Given the description of an element on the screen output the (x, y) to click on. 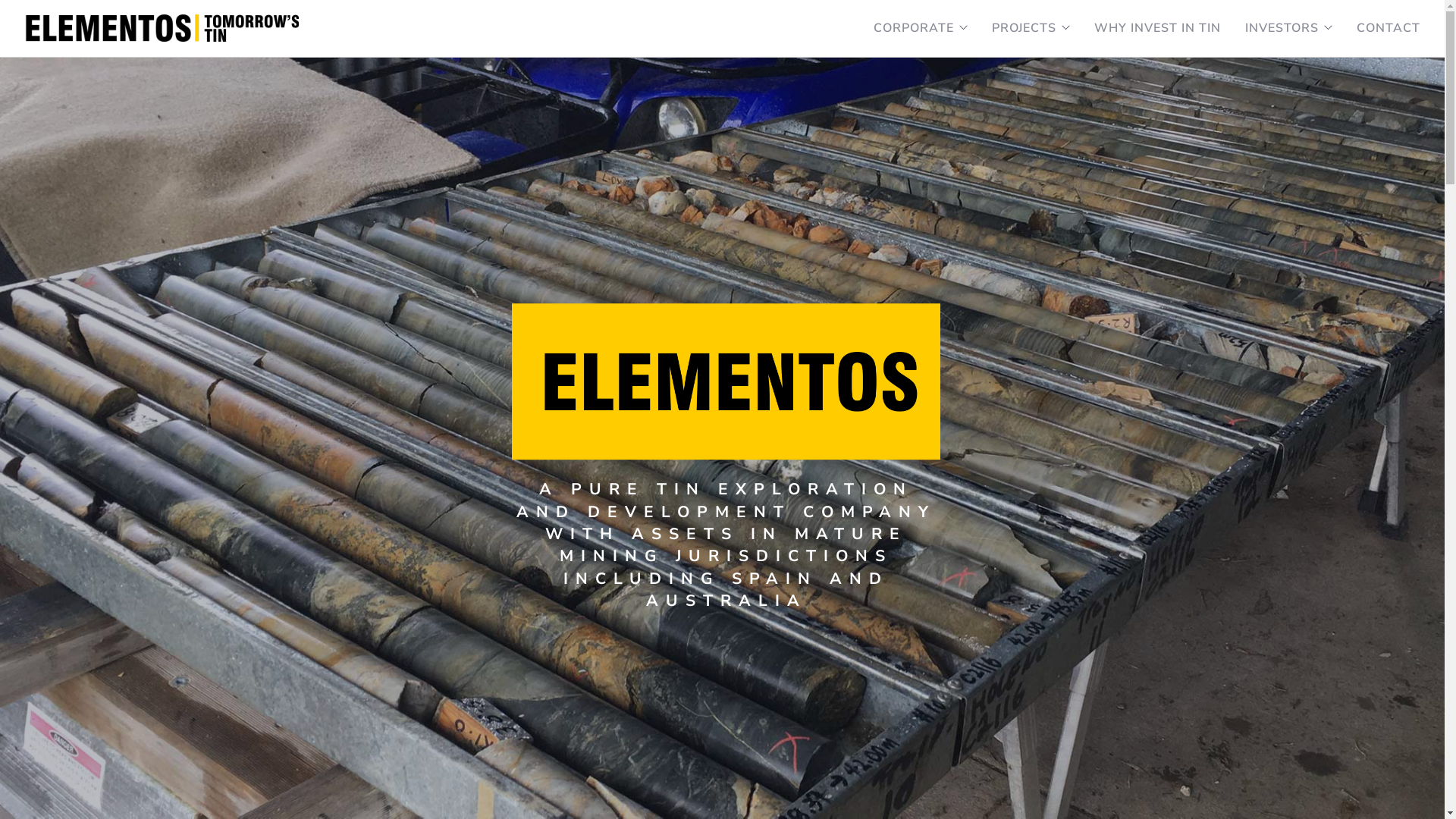
CONTACT Element type: text (1388, 20)
CORPORATE Element type: text (913, 20)
PROJECTS Element type: text (1023, 20)
INVESTORS Element type: text (1281, 20)
WHY INVEST IN TIN Element type: text (1157, 20)
